Given the description of an element on the screen output the (x, y) to click on. 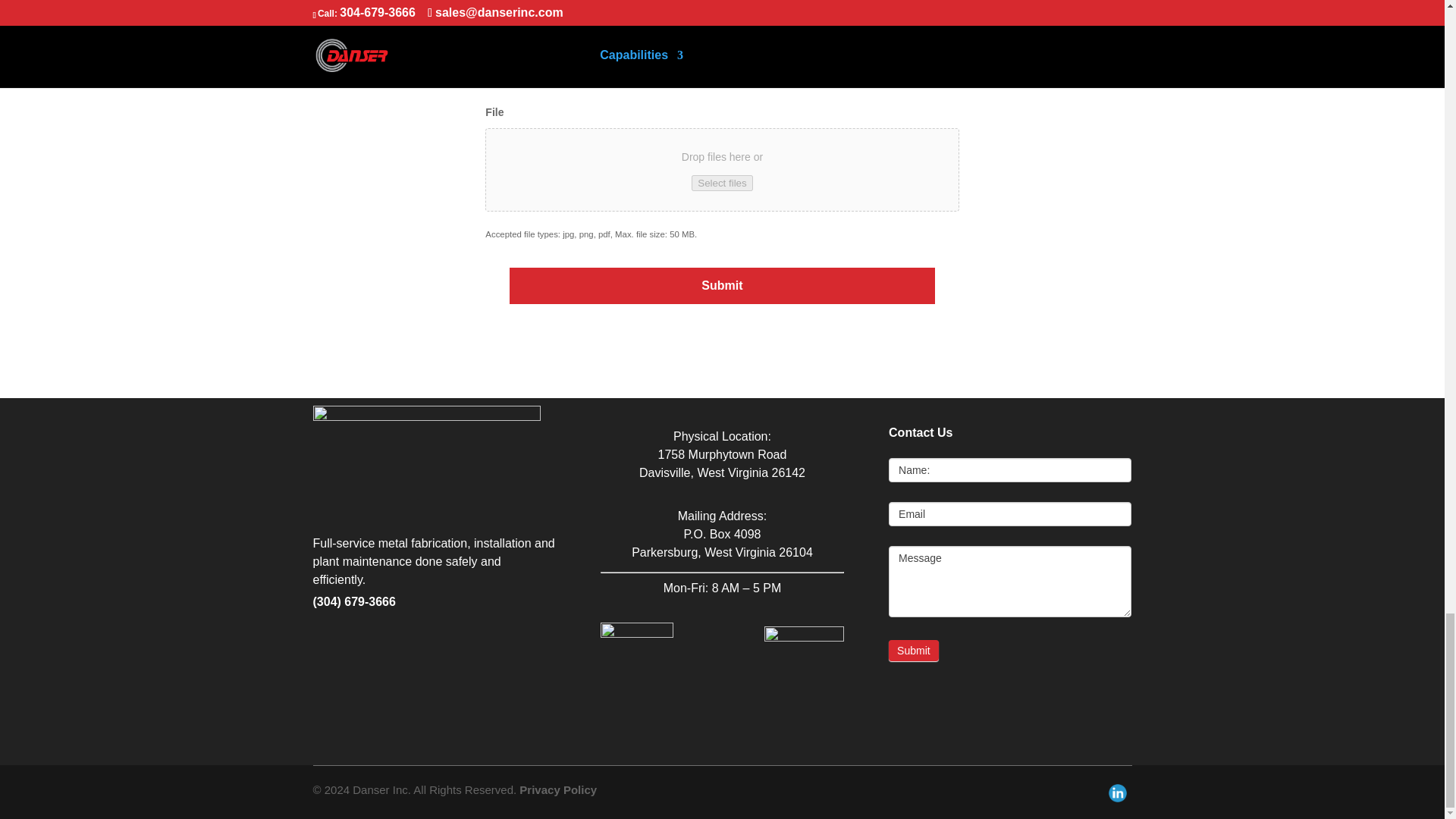
Submit (722, 285)
Submit (722, 285)
Submit (913, 649)
Privacy Policy (557, 789)
Select files (721, 182)
